Given the description of an element on the screen output the (x, y) to click on. 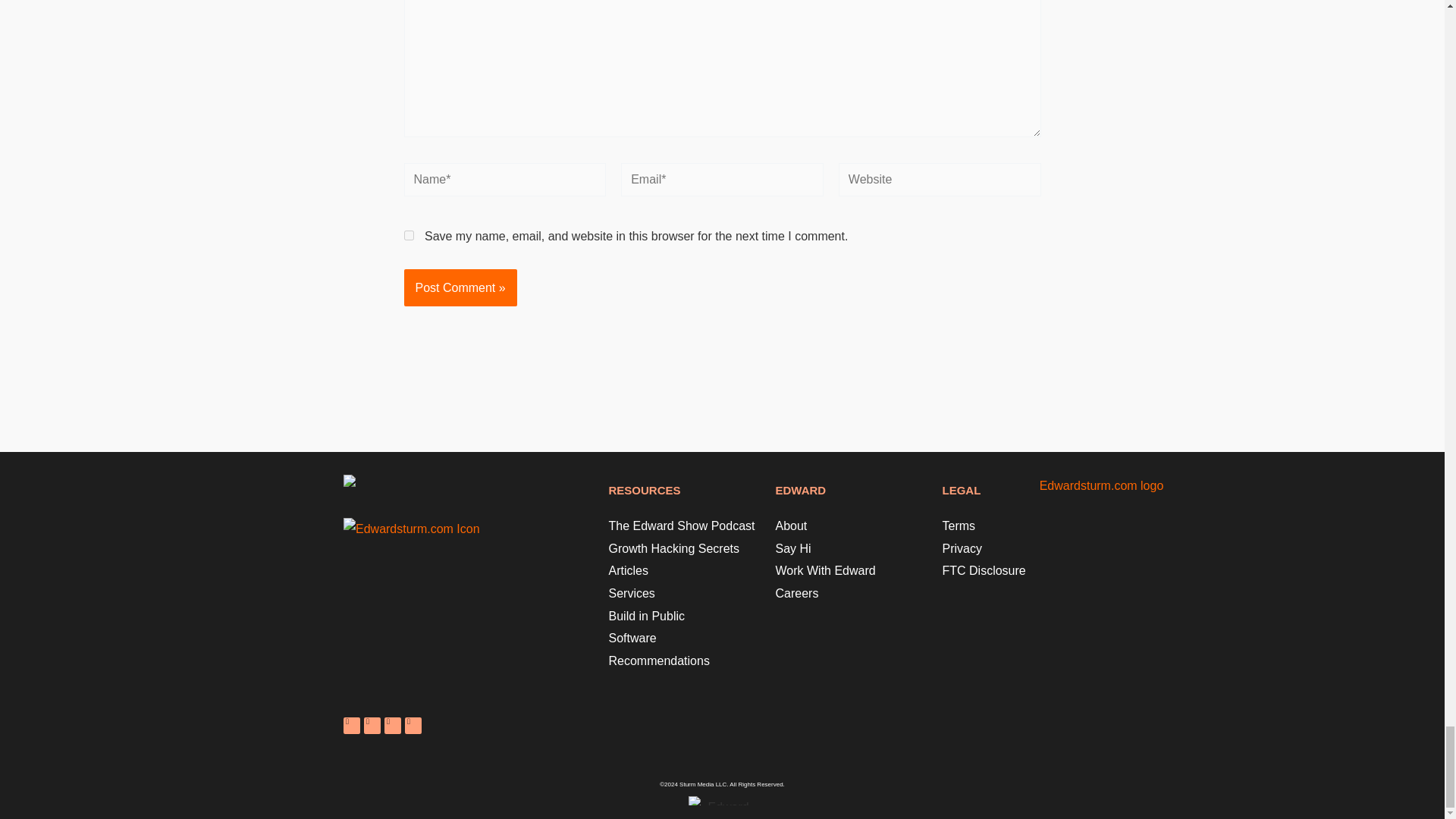
yes (408, 235)
